Given the description of an element on the screen output the (x, y) to click on. 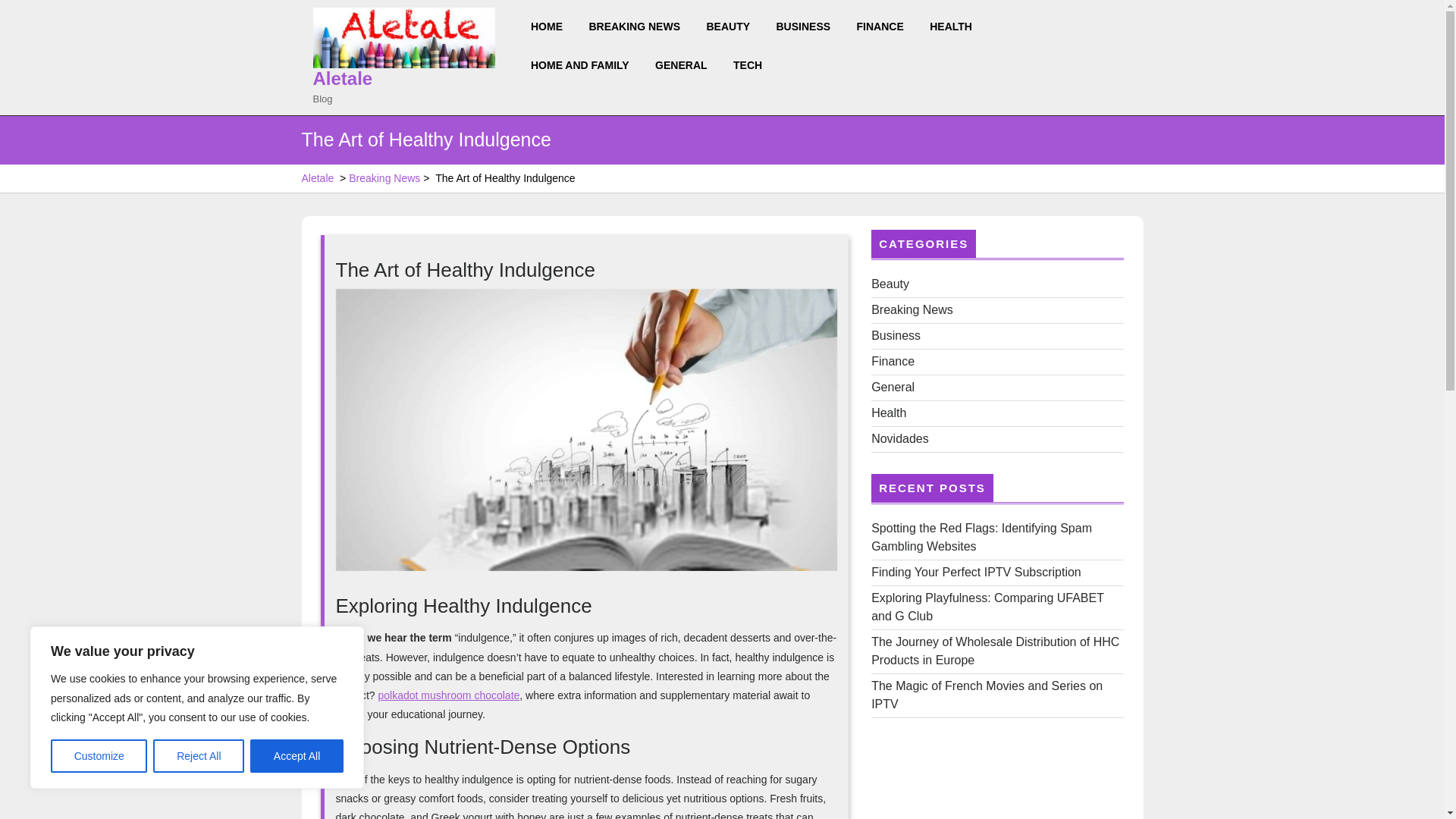
Beauty (889, 283)
HEALTH (954, 26)
Aletale (342, 77)
BREAKING NEWS (637, 26)
The Art of Healthy Indulgence (585, 428)
Business (895, 335)
GENERAL (684, 65)
HOME (550, 26)
TECH (751, 65)
Aletale (317, 178)
